Given the description of an element on the screen output the (x, y) to click on. 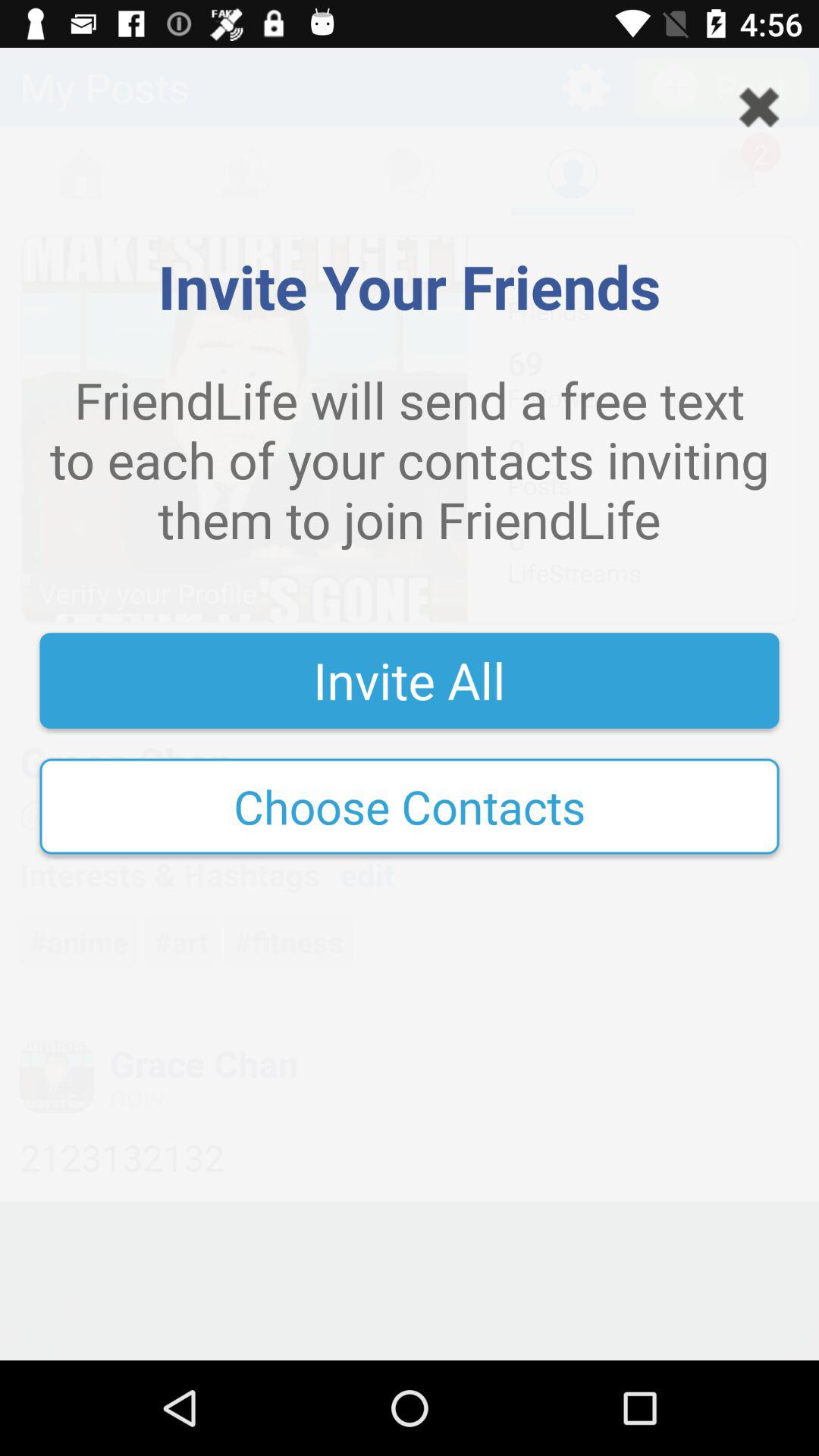
exit (759, 107)
